Given the description of an element on the screen output the (x, y) to click on. 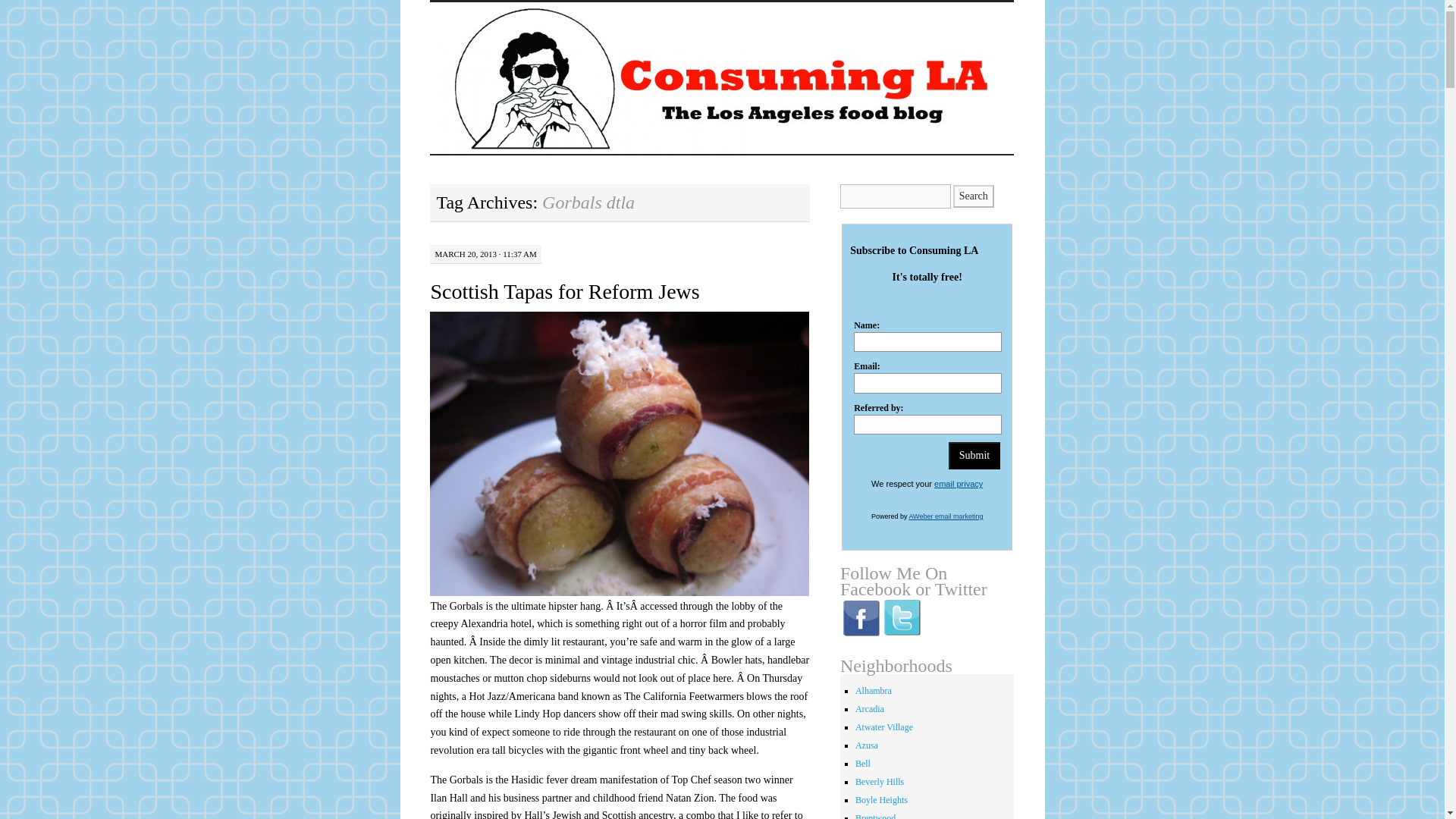
Skip to content (440, 47)
Consuming LA (528, 26)
SKIP TO CONTENT (440, 47)
AWeber email marketing (945, 516)
Submit (974, 455)
Consuming LA (528, 26)
Scottish Tapas for Reform Jews (563, 291)
Search (973, 196)
Privacy Policy (958, 483)
